Given the description of an element on the screen output the (x, y) to click on. 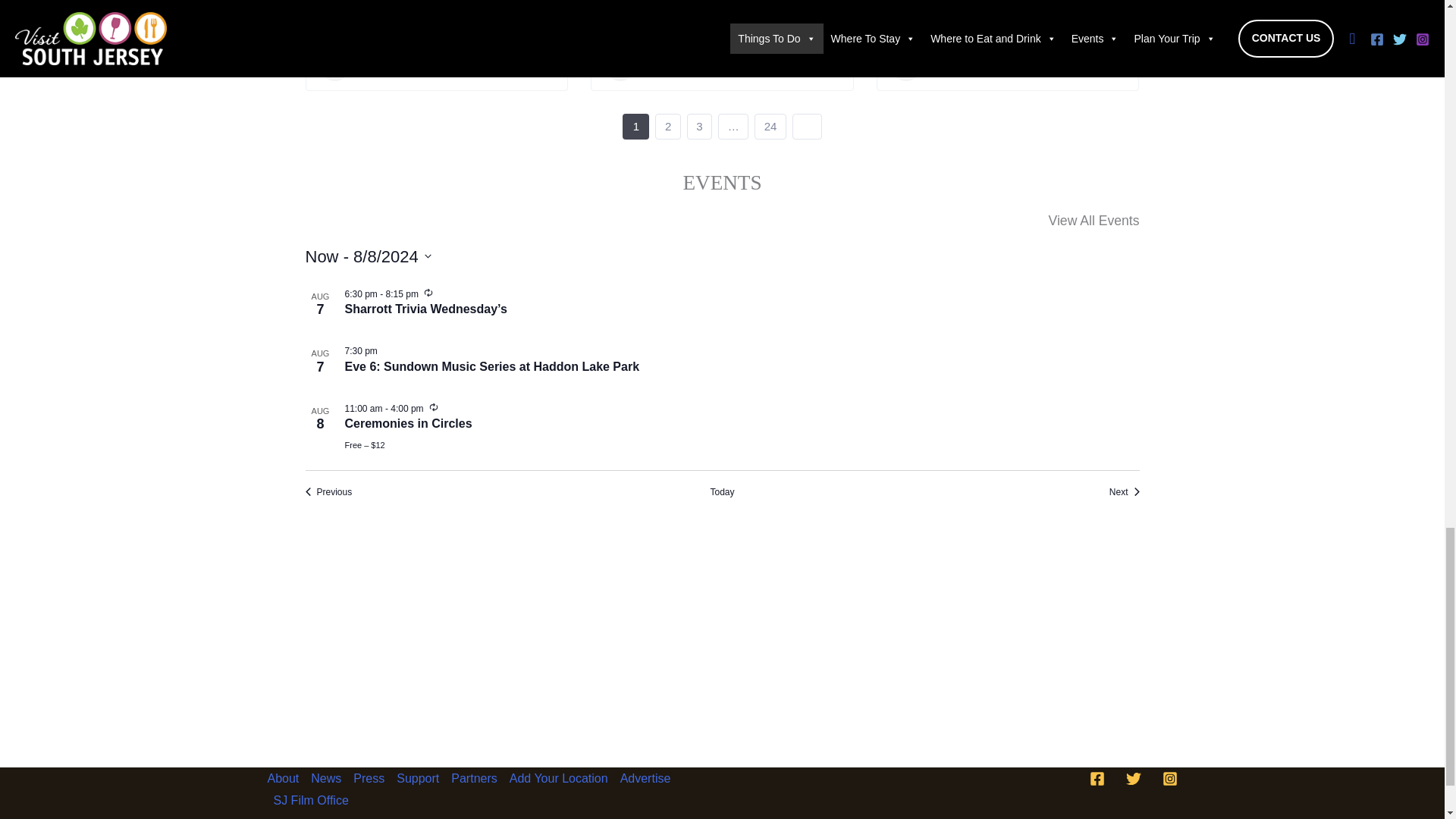
Recurring (427, 292)
Recurring (433, 406)
Click to toggle datepicker (367, 256)
